Given the description of an element on the screen output the (x, y) to click on. 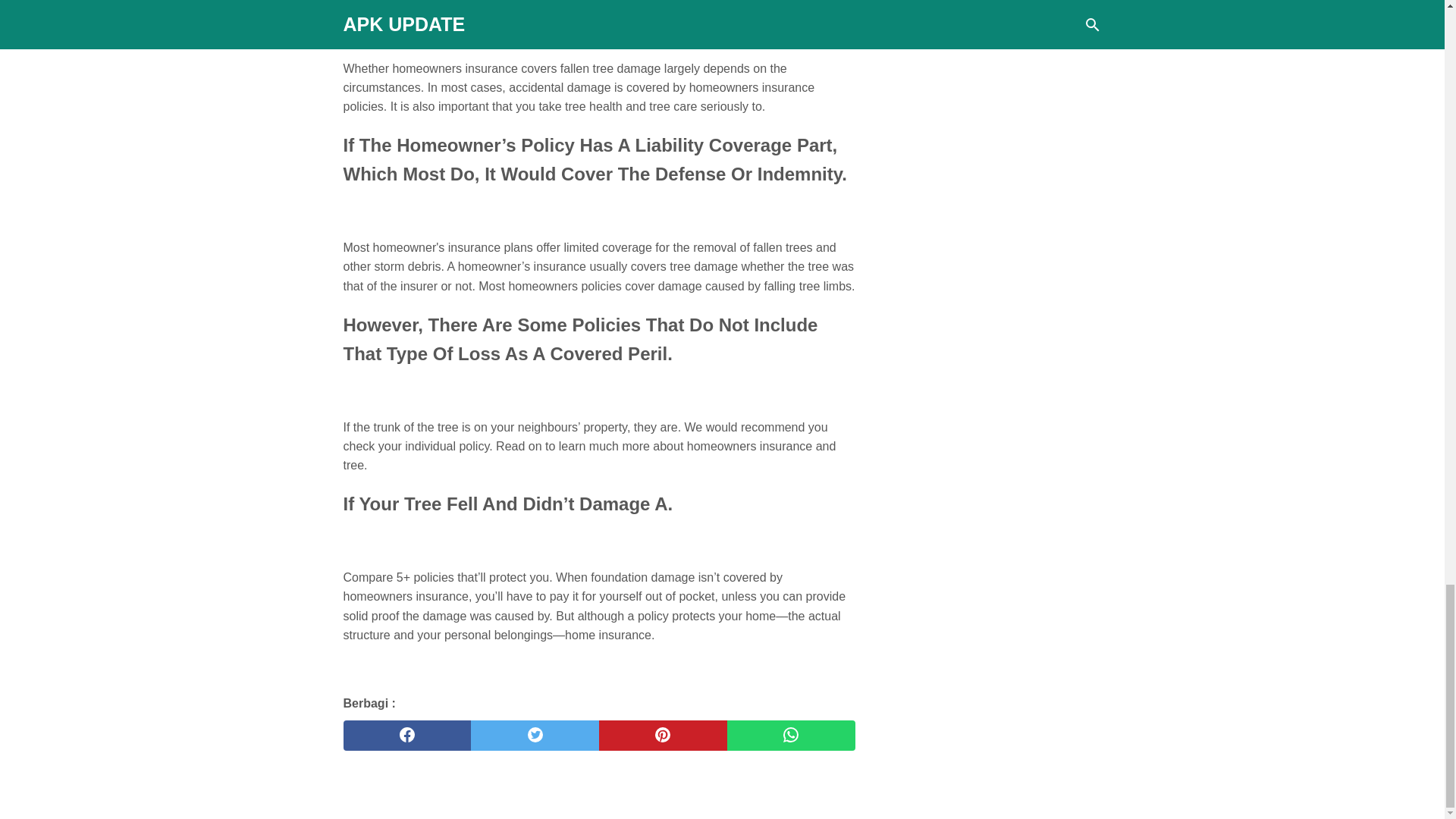
facebook (406, 735)
pinterest (662, 735)
whatsapp (791, 735)
twitter (534, 735)
